Given the description of an element on the screen output the (x, y) to click on. 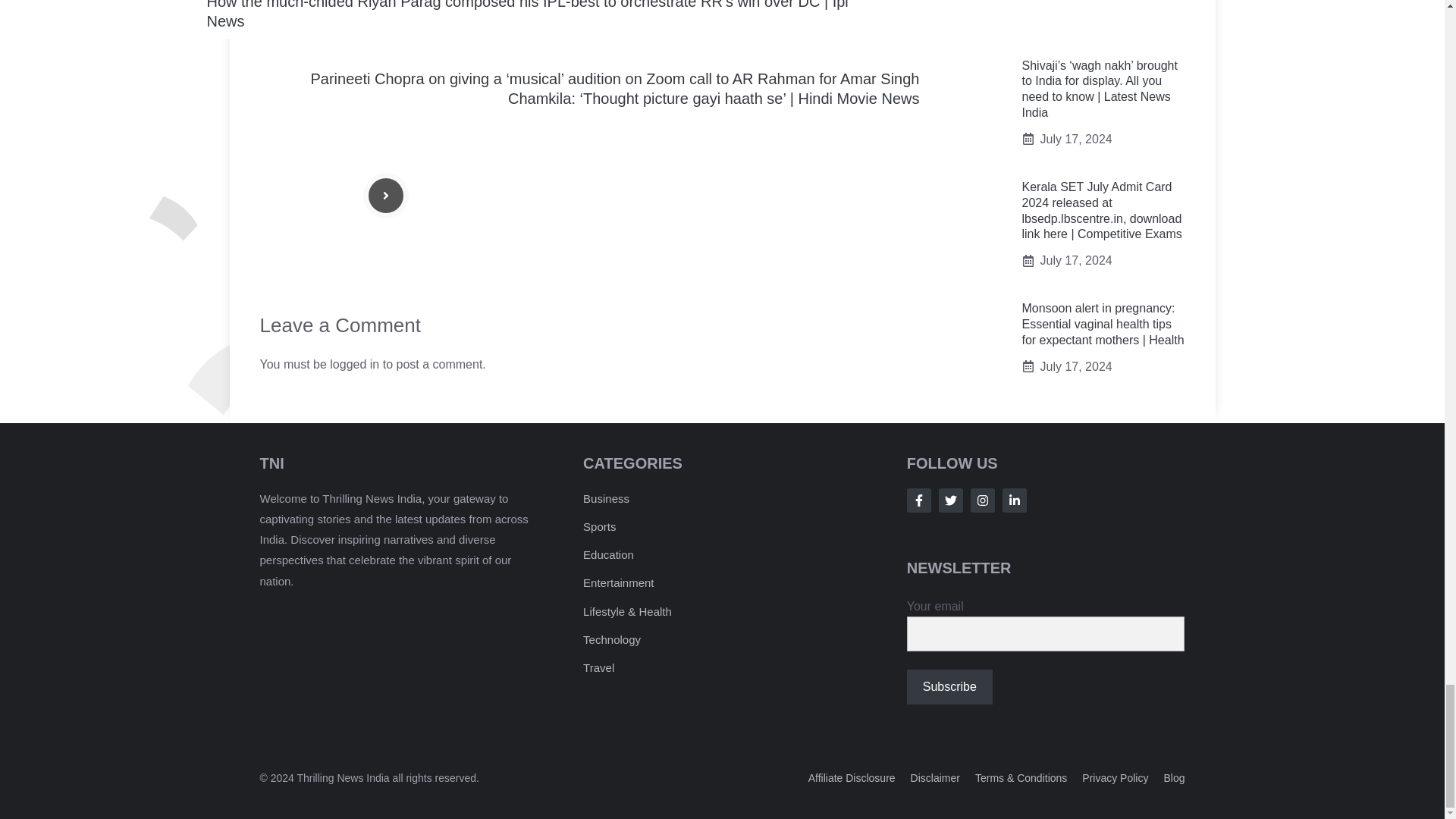
Subscribe (949, 686)
logged in (354, 364)
